Given the description of an element on the screen output the (x, y) to click on. 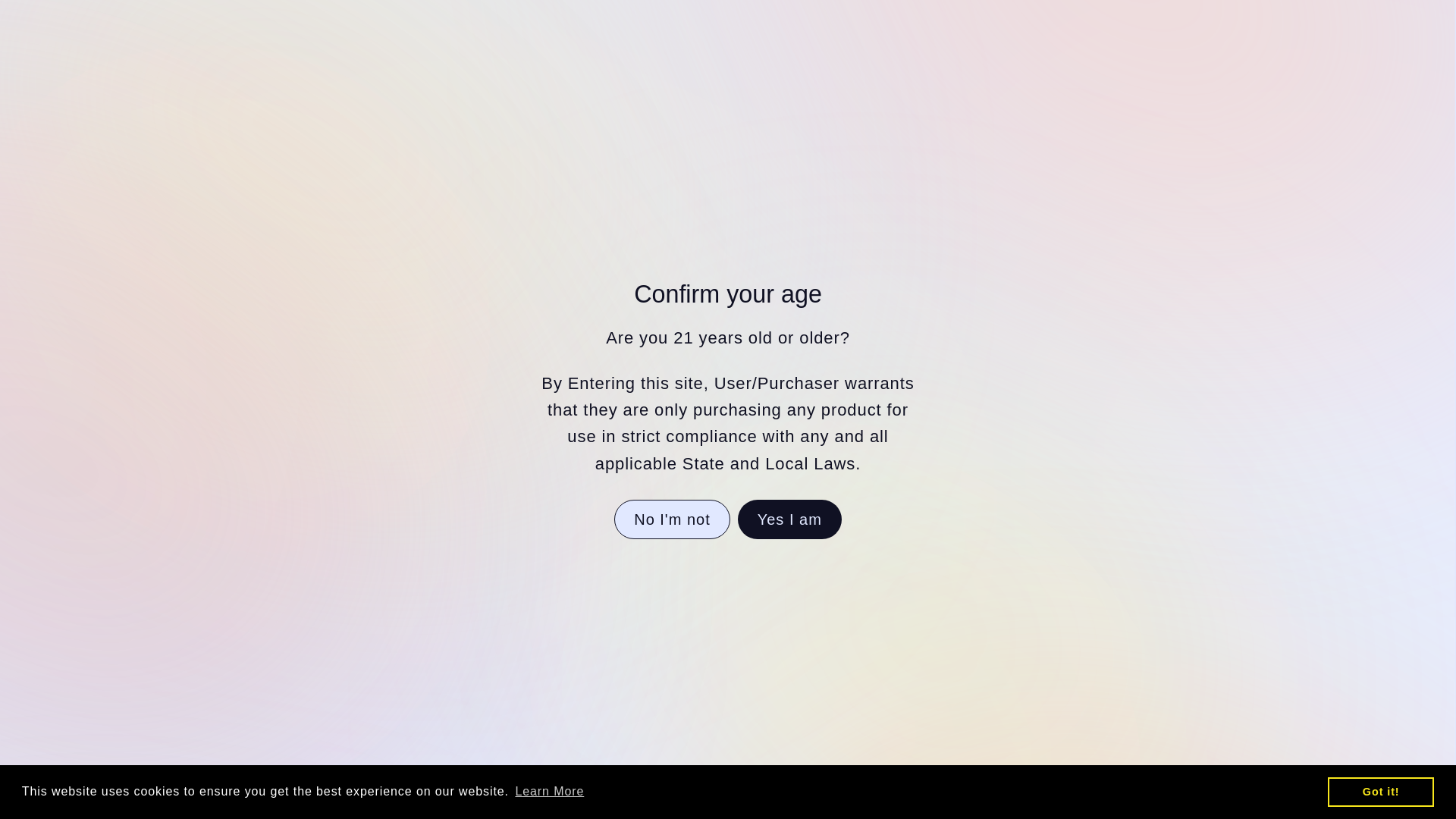
Yes I am (789, 518)
twitter (1154, 11)
FAQs (680, 110)
CLICK HERE (769, 12)
instagram (1114, 11)
Shop (396, 110)
Got it! (1380, 791)
